Given the description of an element on the screen output the (x, y) to click on. 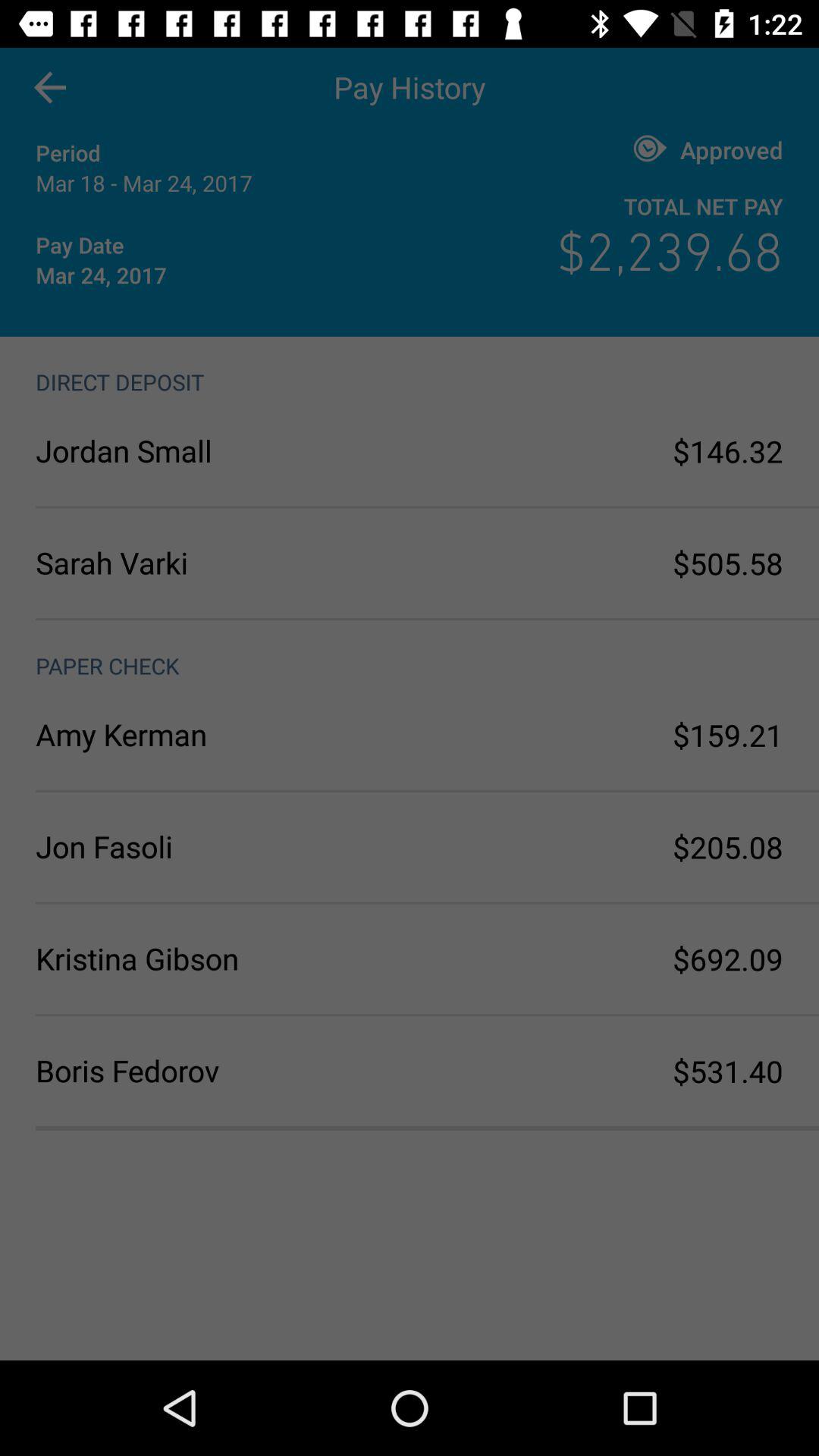
click the kristina gibson icon (222, 958)
